Given the description of an element on the screen output the (x, y) to click on. 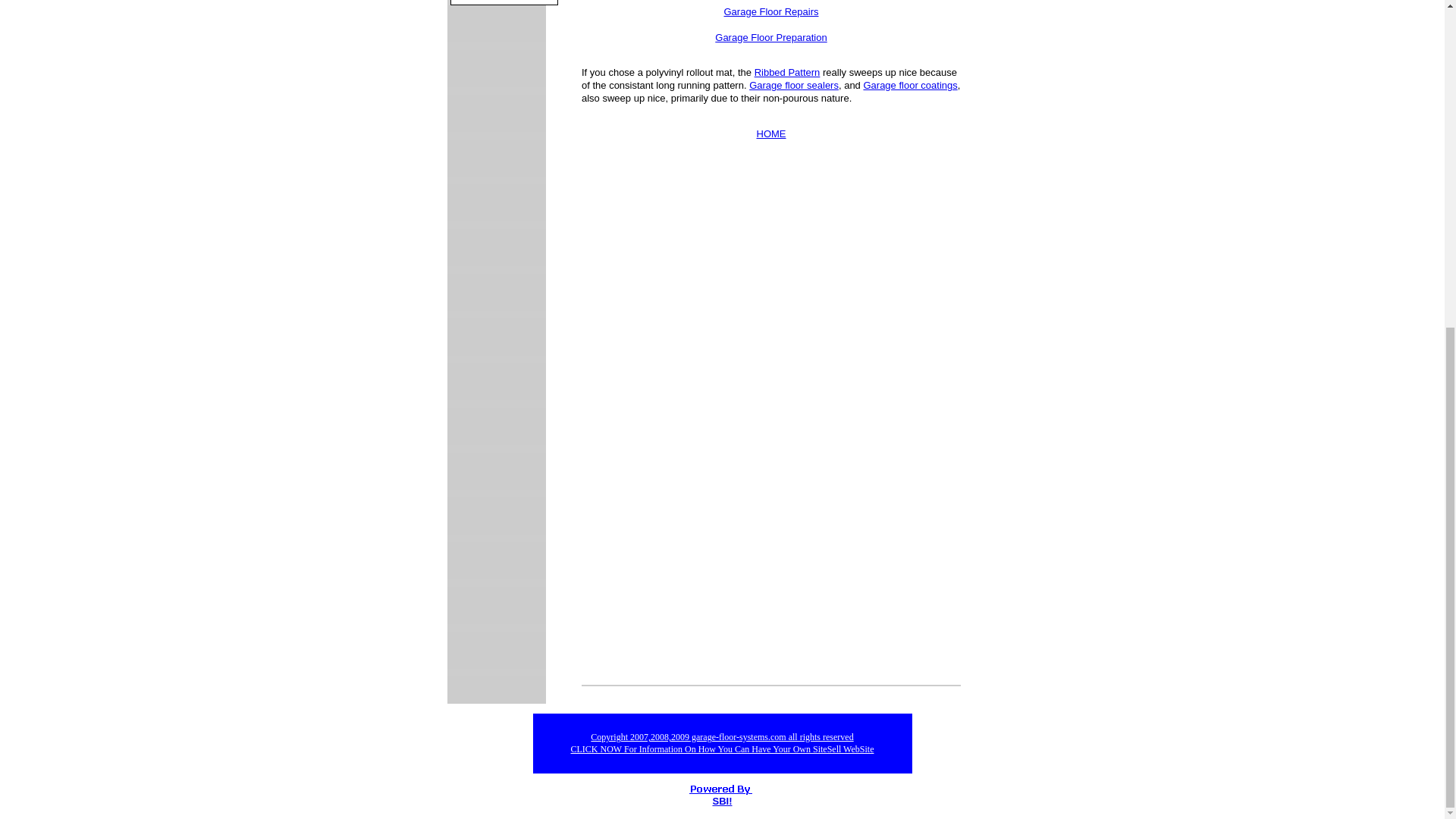
HOME (771, 133)
Advertisement (707, 555)
SBI! (722, 800)
Preparing Your Garage Floor (770, 37)
Garage floor coatings (909, 84)
Ribbed Pattern (787, 71)
Garage floor sealers (793, 84)
Garage Floor Repairs (770, 11)
Repairing Your Garage Floor (770, 11)
Go To Home Page (771, 133)
Garage Floor Preparation (770, 37)
